Given the description of an element on the screen output the (x, y) to click on. 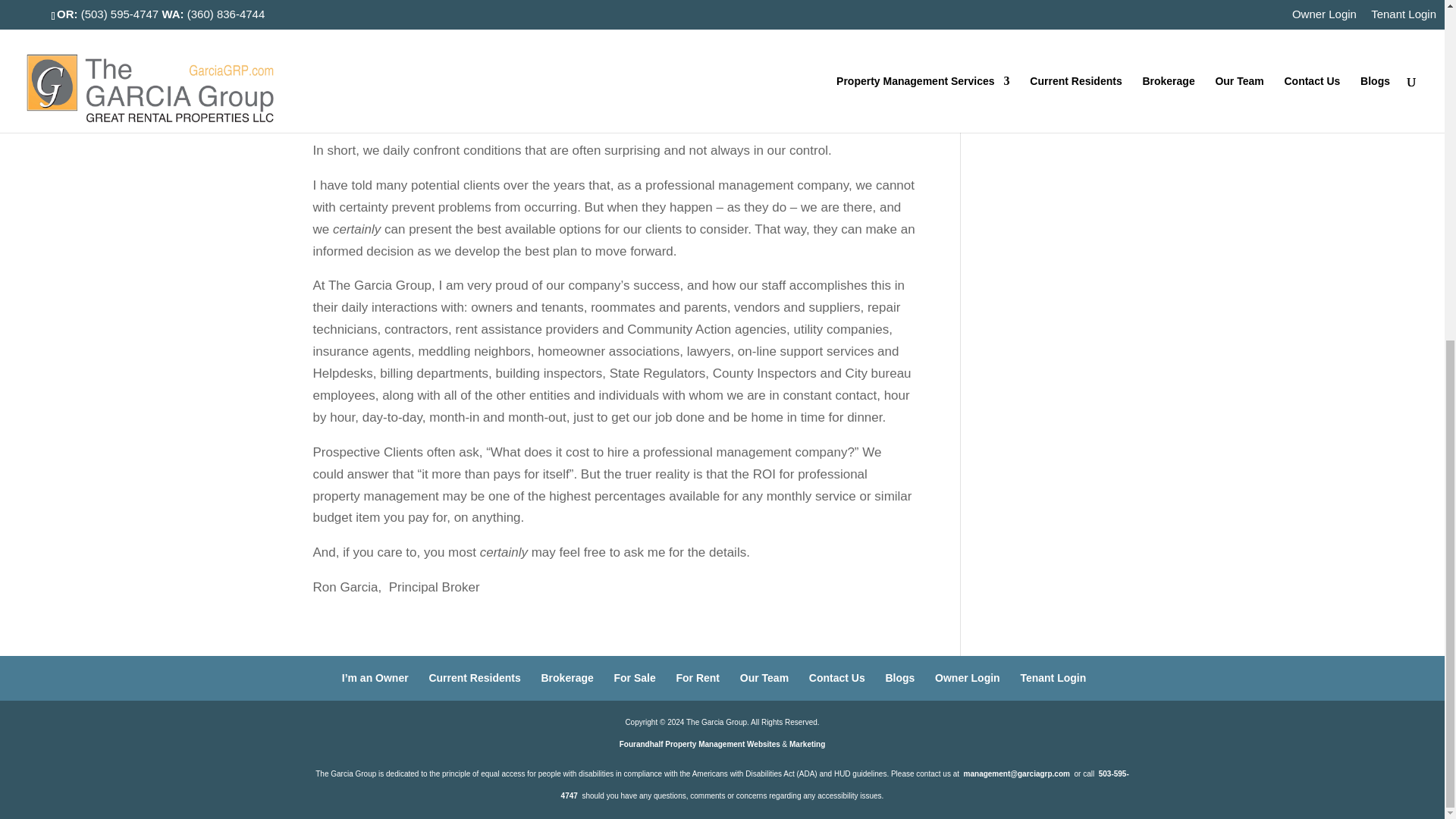
Security Deposits (1033, 8)
Tenant Education (1033, 36)
